Given the description of an element on the screen output the (x, y) to click on. 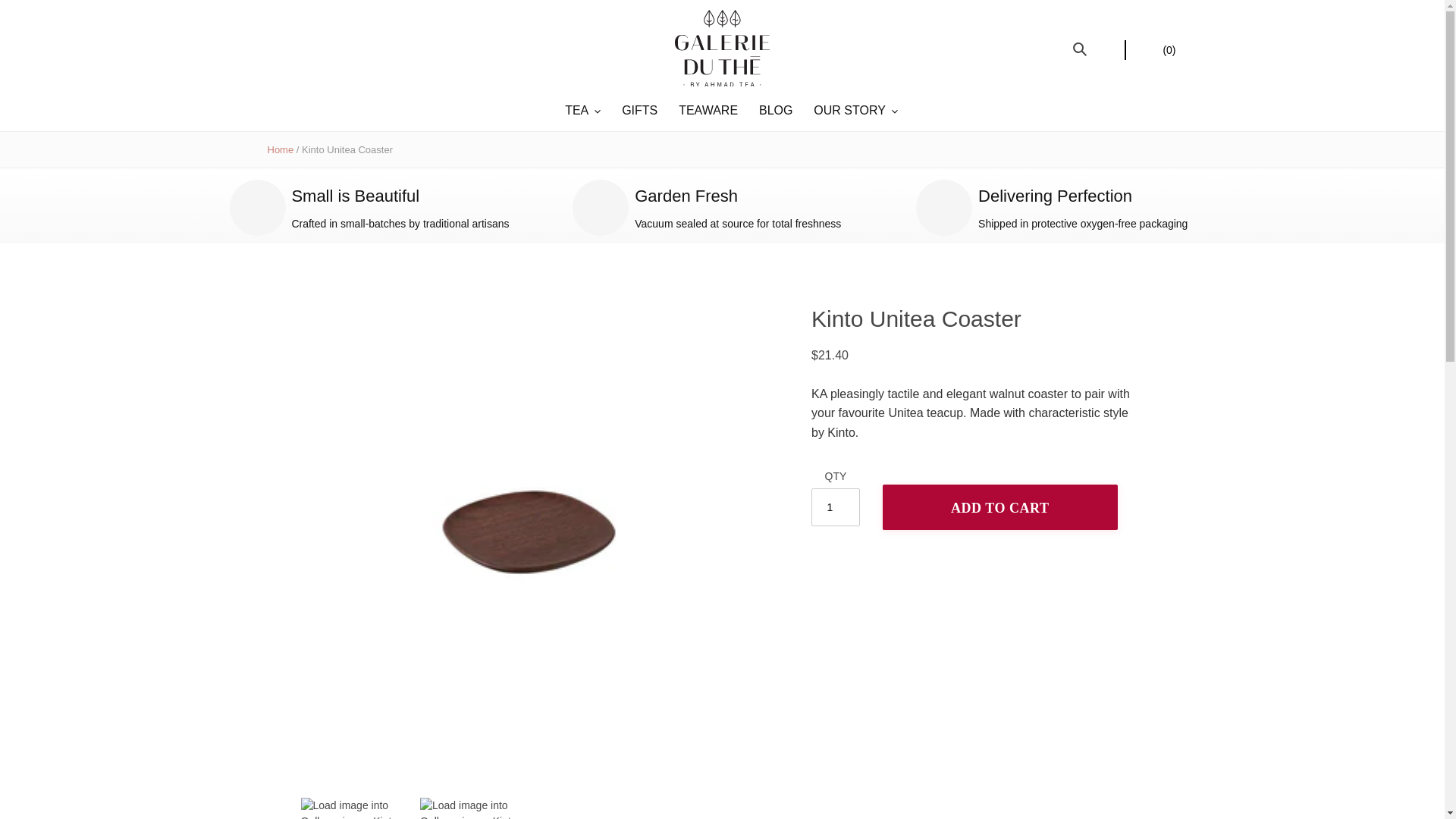
GIFTS (639, 110)
1 (835, 507)
TEAWARE (708, 110)
TEA (581, 110)
OUR STORY (855, 110)
BLOG (775, 110)
Go to Home Page (280, 150)
Search (1080, 48)
